Given the description of an element on the screen output the (x, y) to click on. 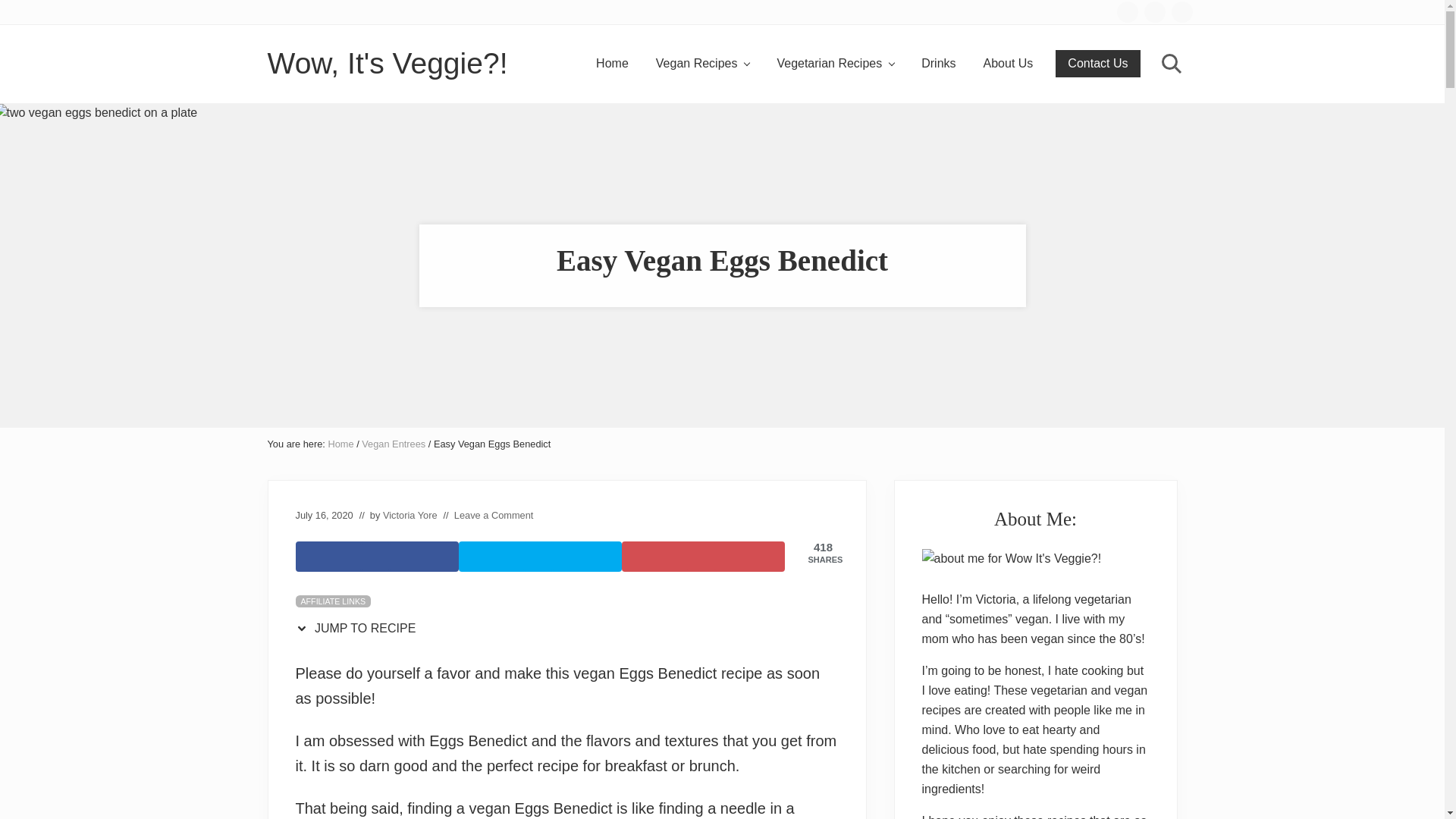
Home (611, 62)
Save to Pinterest (702, 556)
Share on Facebook (376, 556)
Wow, It's Veggie?! (386, 63)
Instagram (1153, 11)
Pinterest (1181, 11)
Instagram (1154, 11)
Pinterest (1181, 11)
Share on Twitter (539, 556)
Leave a Comment (494, 514)
